Given the description of an element on the screen output the (x, y) to click on. 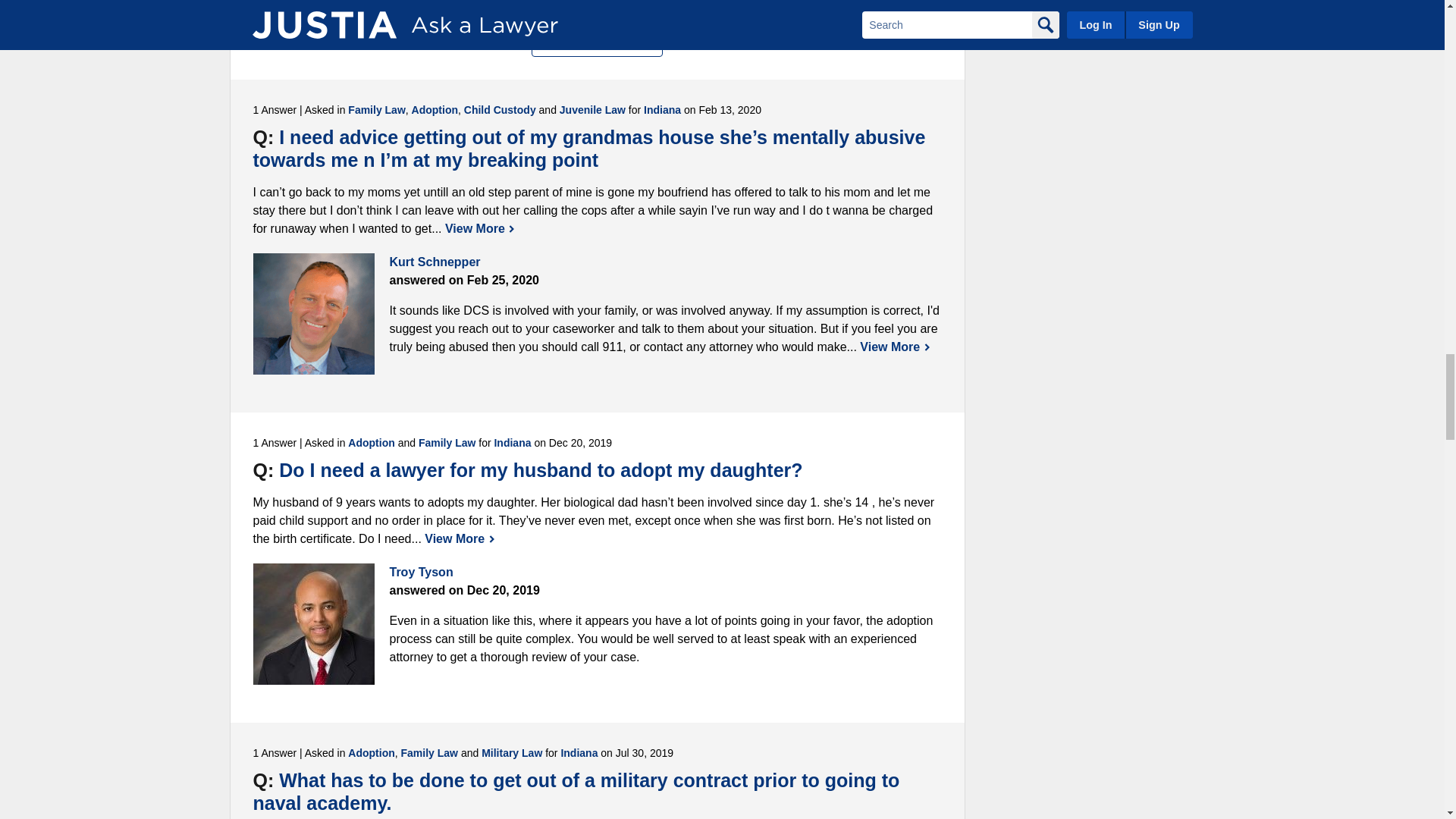
John Mario Acosta Jr. (313, 3)
Kurt Schnepper (313, 313)
Troy Tyson (313, 623)
